Given the description of an element on the screen output the (x, y) to click on. 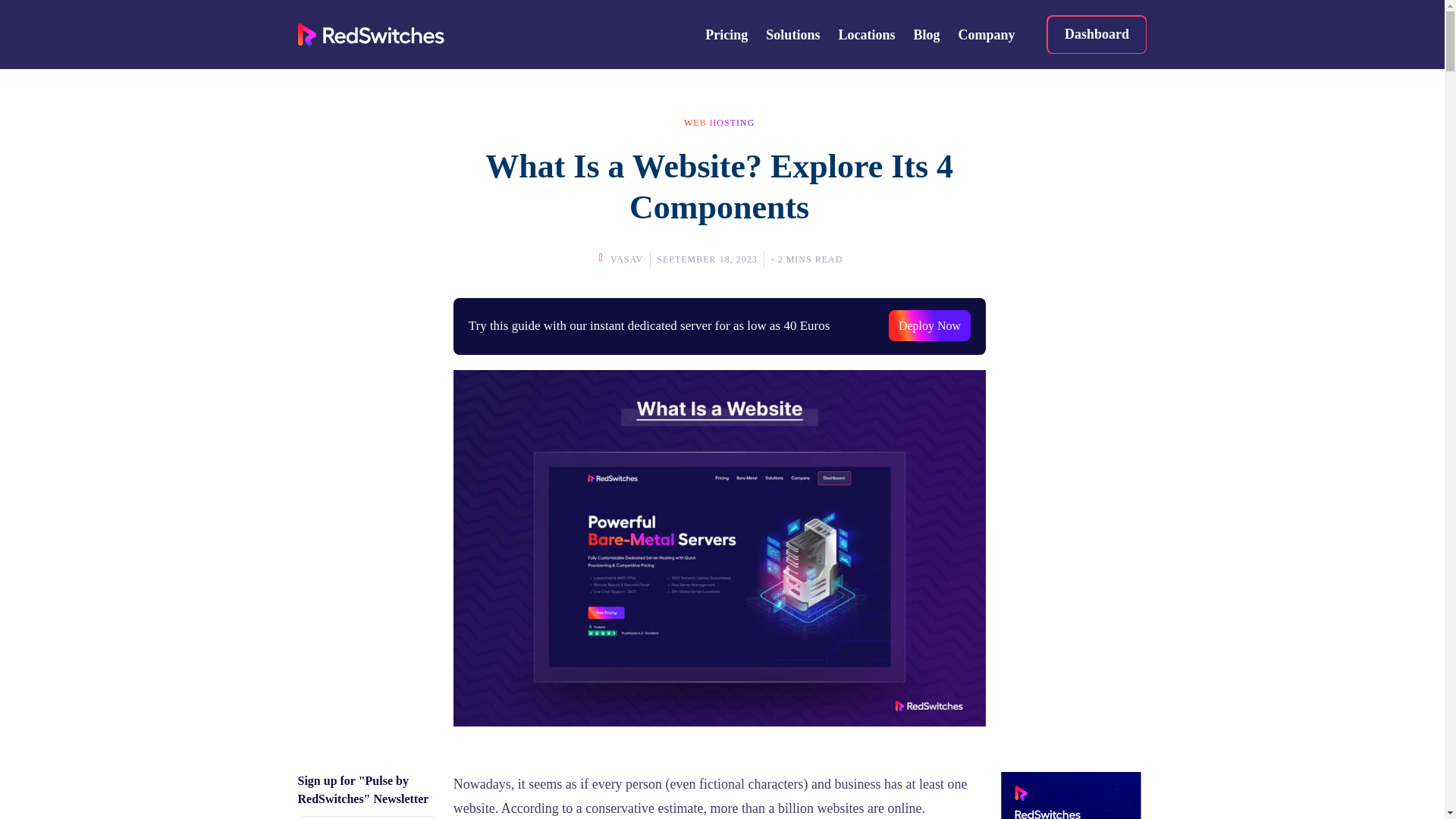
Solutions (792, 34)
Dashboard (1096, 34)
Locations (866, 34)
Company (986, 34)
Pricing (726, 34)
Blog (926, 34)
